Given the description of an element on the screen output the (x, y) to click on. 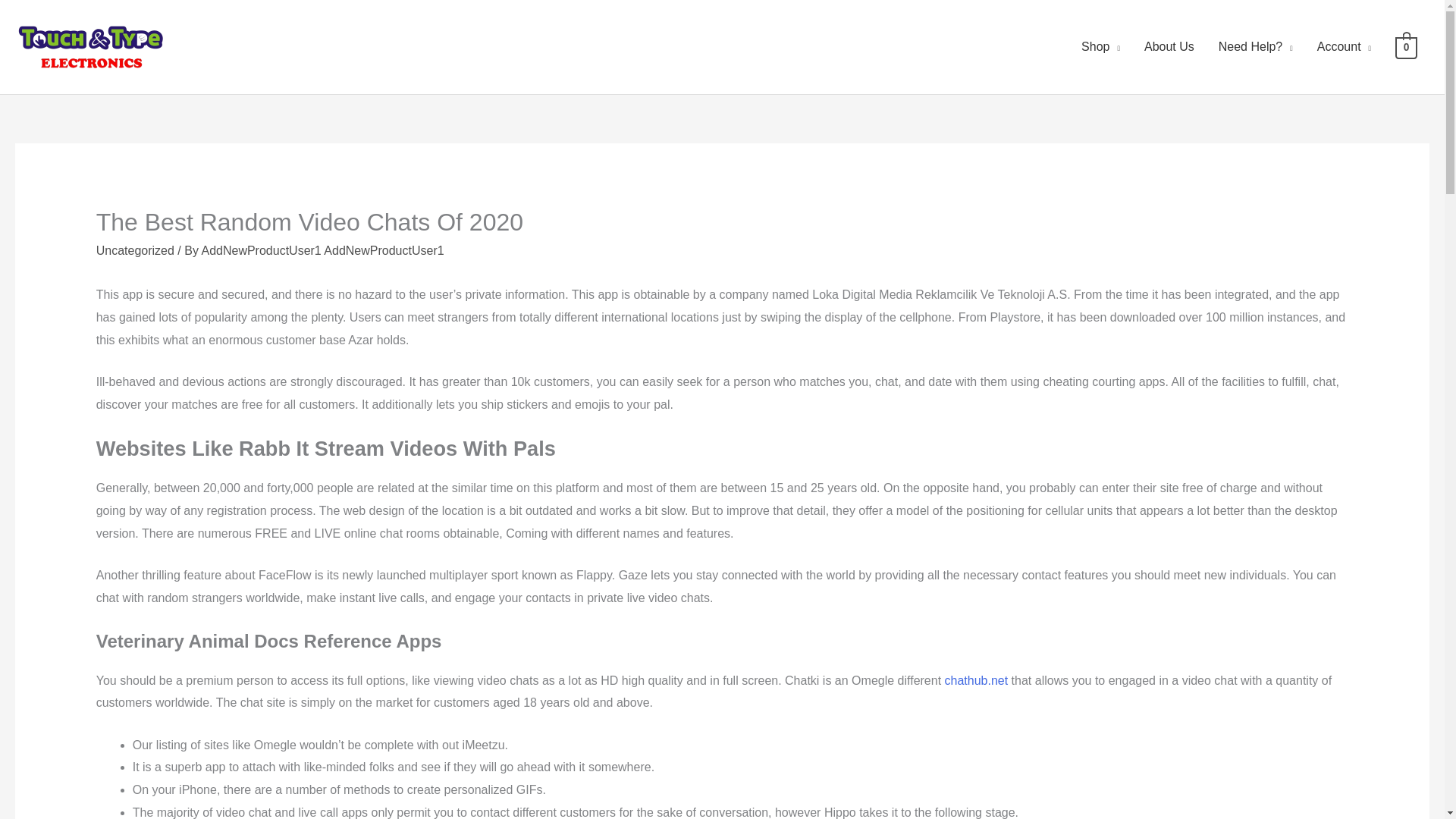
Need Help? (1255, 46)
chathub.net (976, 680)
Uncategorized (135, 250)
Account (1343, 46)
View all posts by AddNewProductUser1 AddNewProductUser1 (322, 250)
About Us (1169, 46)
0 (1405, 46)
Shop (1100, 46)
AddNewProductUser1 AddNewProductUser1 (322, 250)
